Given the description of an element on the screen output the (x, y) to click on. 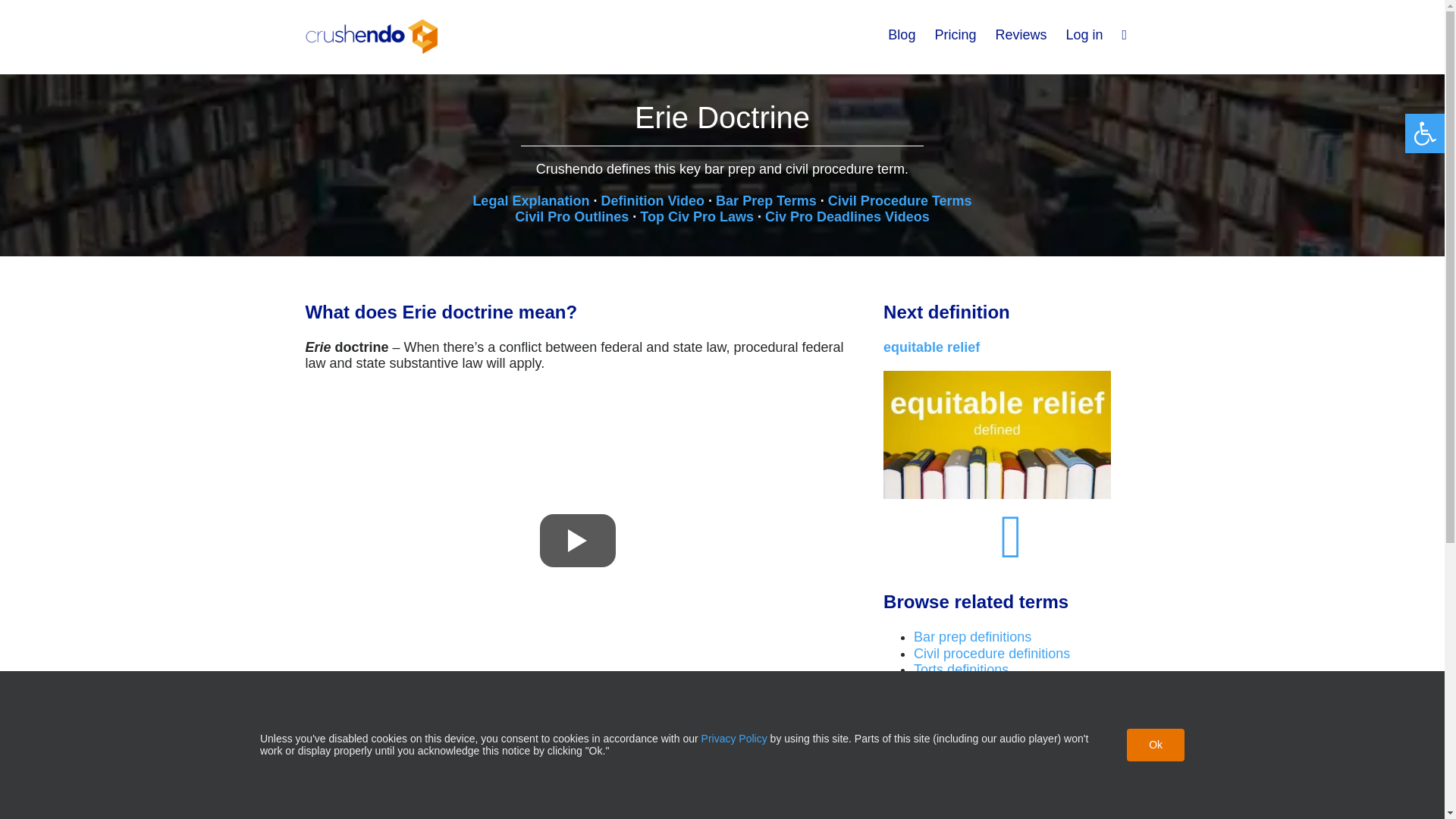
Accessibility Tools (1424, 133)
